Given the description of an element on the screen output the (x, y) to click on. 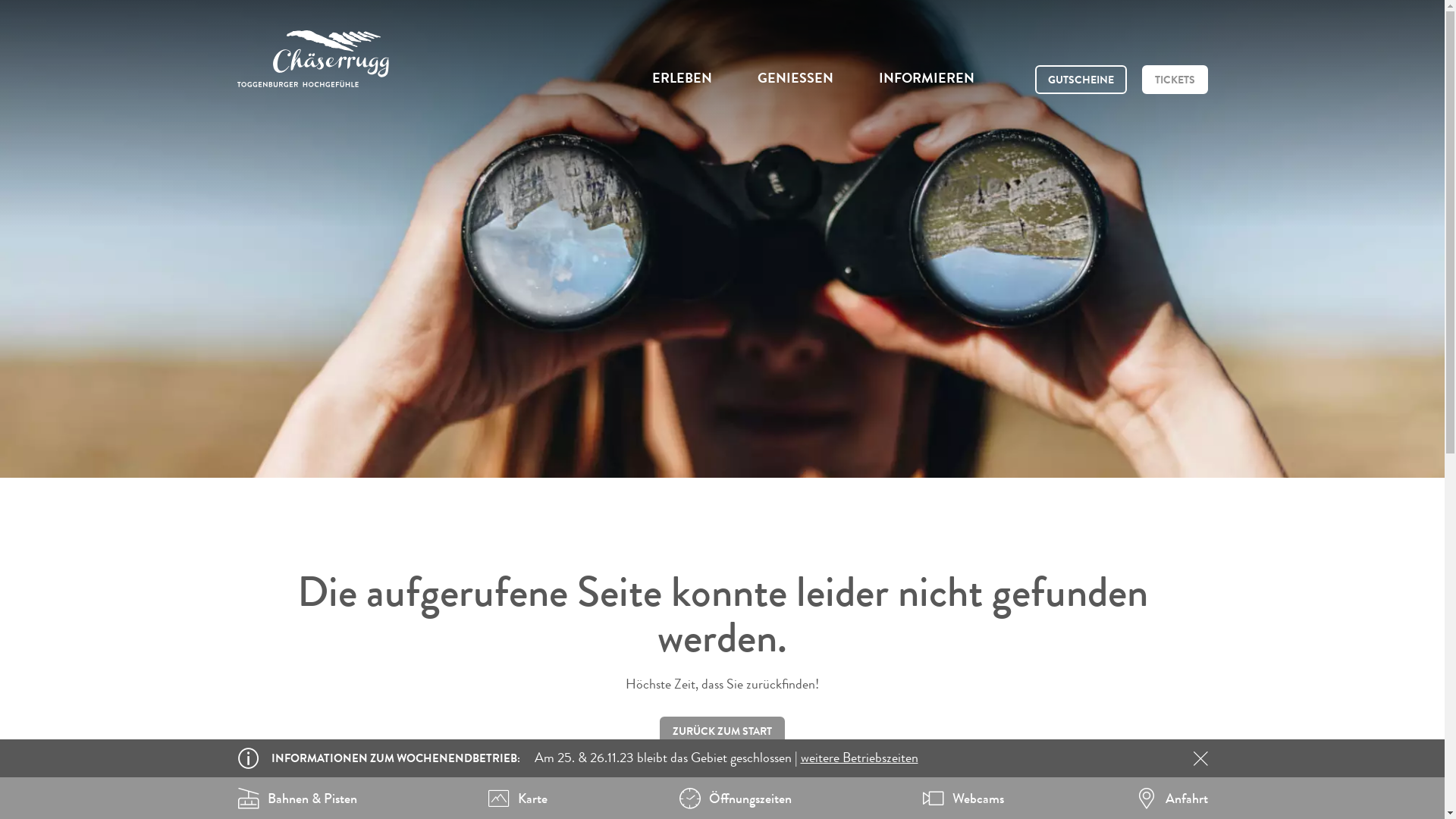
Anfahrt Element type: text (1170, 798)
Webcams Element type: text (963, 798)
TICKETS Element type: text (1175, 79)
Fehler Element type: hover (722, 238)
Karte Element type: text (517, 798)
Bahnen & Pisten Element type: text (296, 798)
GUTSCHEINE Element type: text (1080, 79)
weitere Betriebszeiten Element type: text (859, 757)
